Given the description of an element on the screen output the (x, y) to click on. 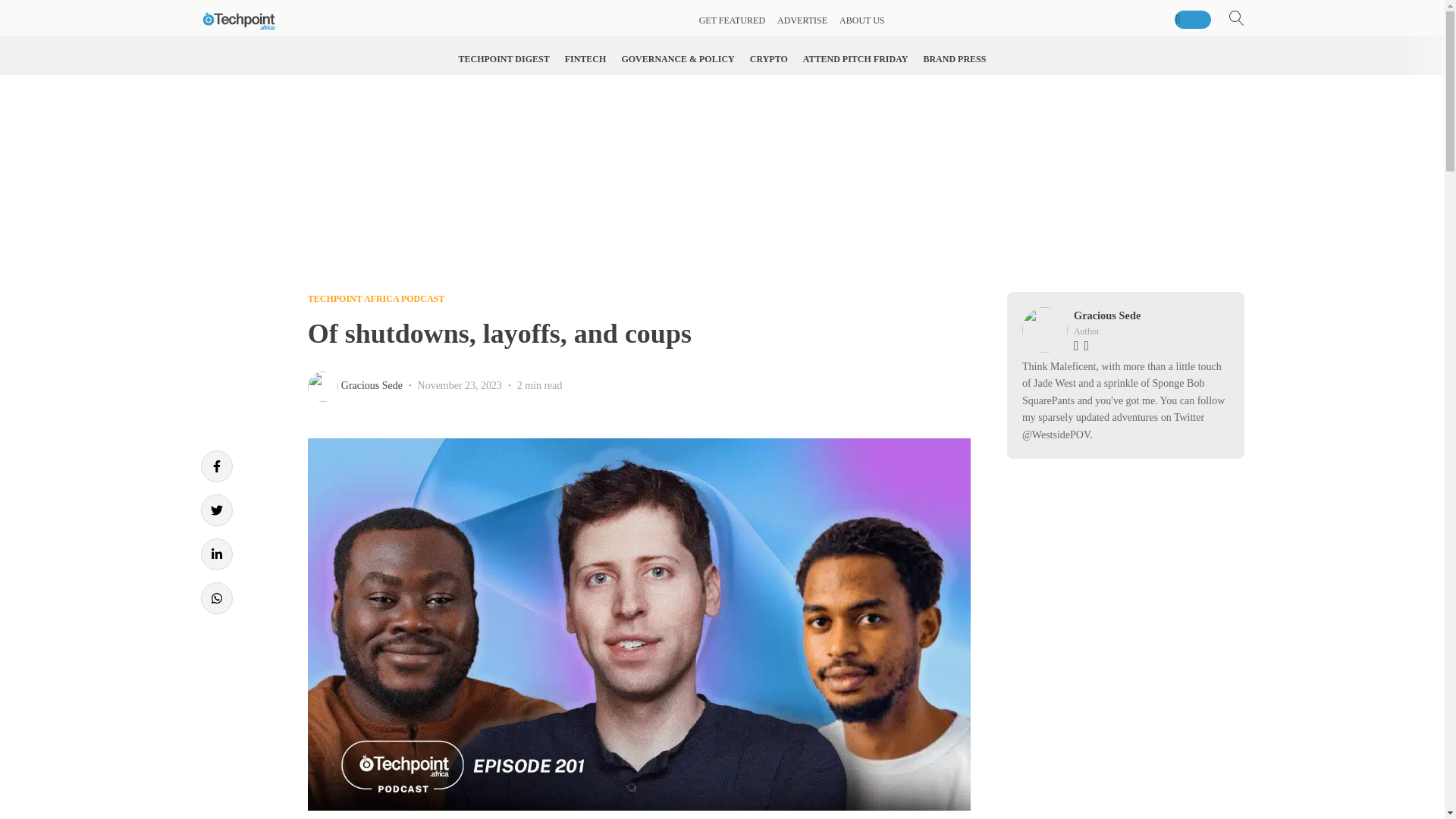
TECHPOINT AFRICA PODCAST (375, 298)
ATTEND PITCH FRIDAY (854, 59)
ADVERTISE (802, 20)
ABOUT US (861, 20)
TECHPOINT DIGEST (504, 59)
Share on Twitter (215, 510)
CRYPTO (768, 59)
Posts by Gracious Sede (371, 385)
GET FEATURED (731, 20)
Share on Facebook (215, 466)
Share on LinkedIn (215, 554)
Gracious Sede (371, 385)
FINTECH (585, 59)
Share on Whatsapp (215, 598)
Gracious Sede (1107, 315)
